Given the description of an element on the screen output the (x, y) to click on. 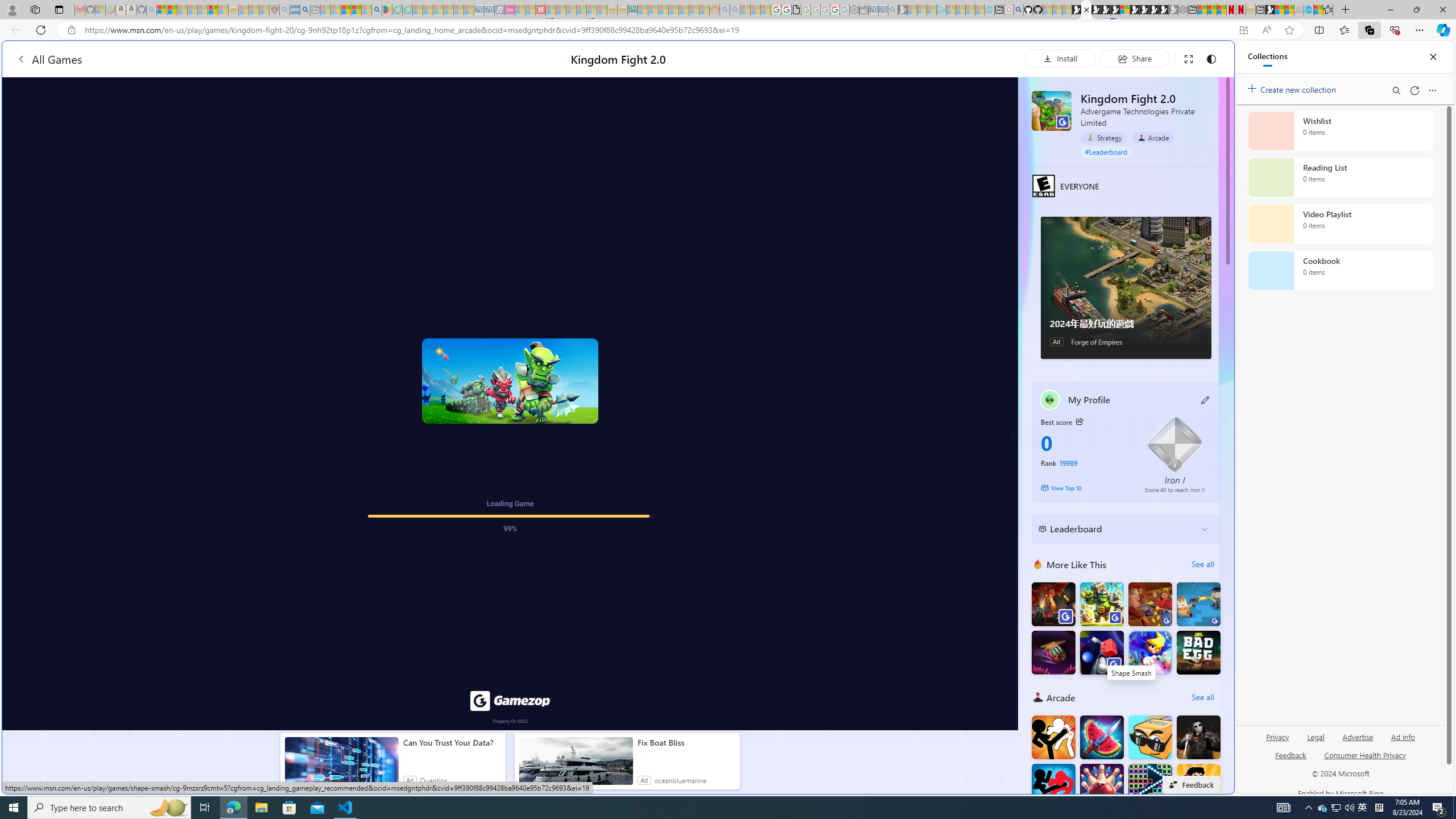
Cubes2048 (1149, 737)
Close split screen (1208, 57)
Class: button edit-icon (1205, 399)
Gun Master (1198, 603)
anim-content (576, 765)
Strategy (1103, 137)
